Given the description of an element on the screen output the (x, y) to click on. 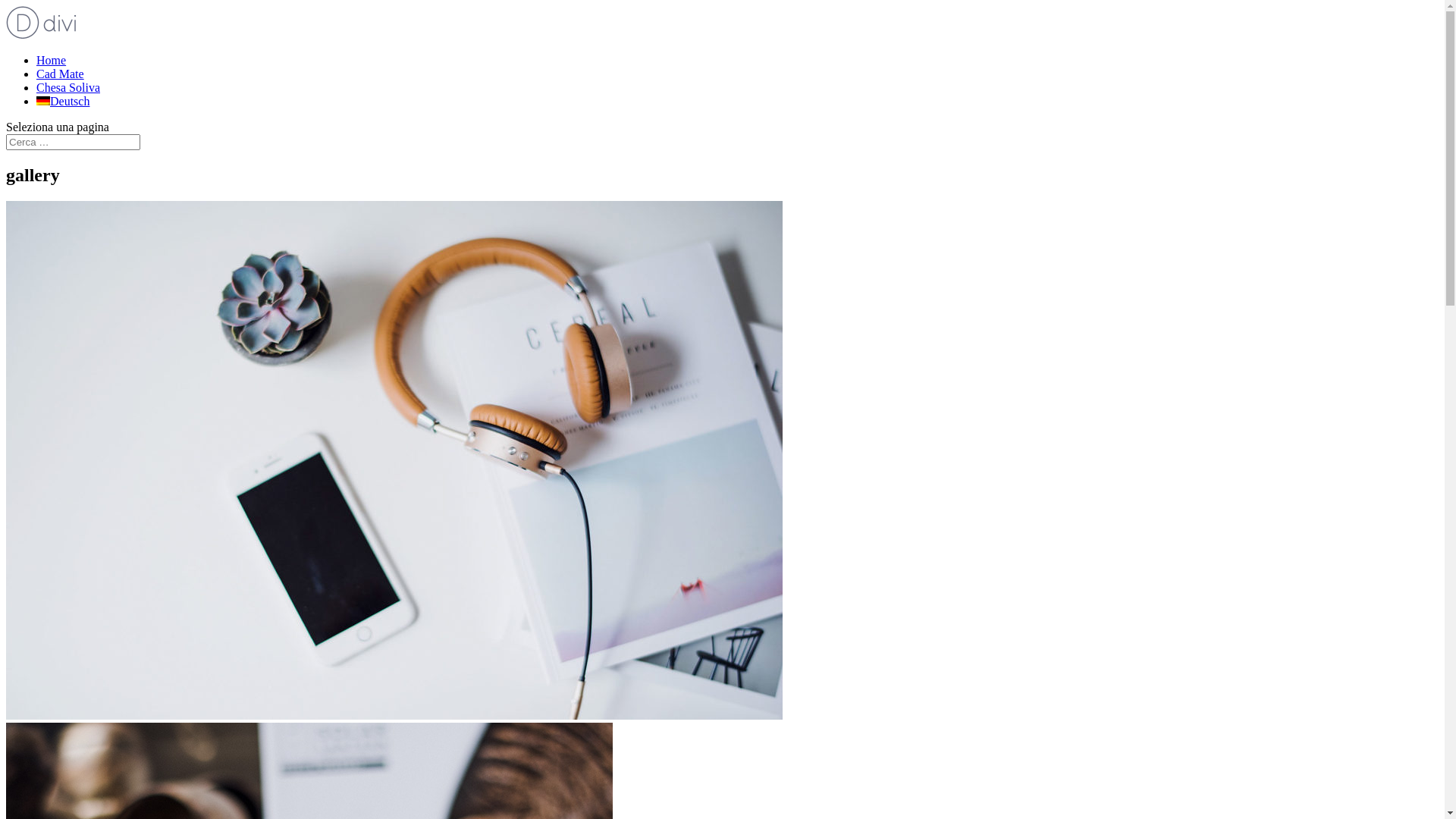
Home Element type: text (50, 59)
Chesa Soliva Element type: text (68, 87)
Cad Mate Element type: text (60, 73)
Cerca: Element type: hover (73, 142)
Deutsch Element type: text (62, 100)
